Given the description of an element on the screen output the (x, y) to click on. 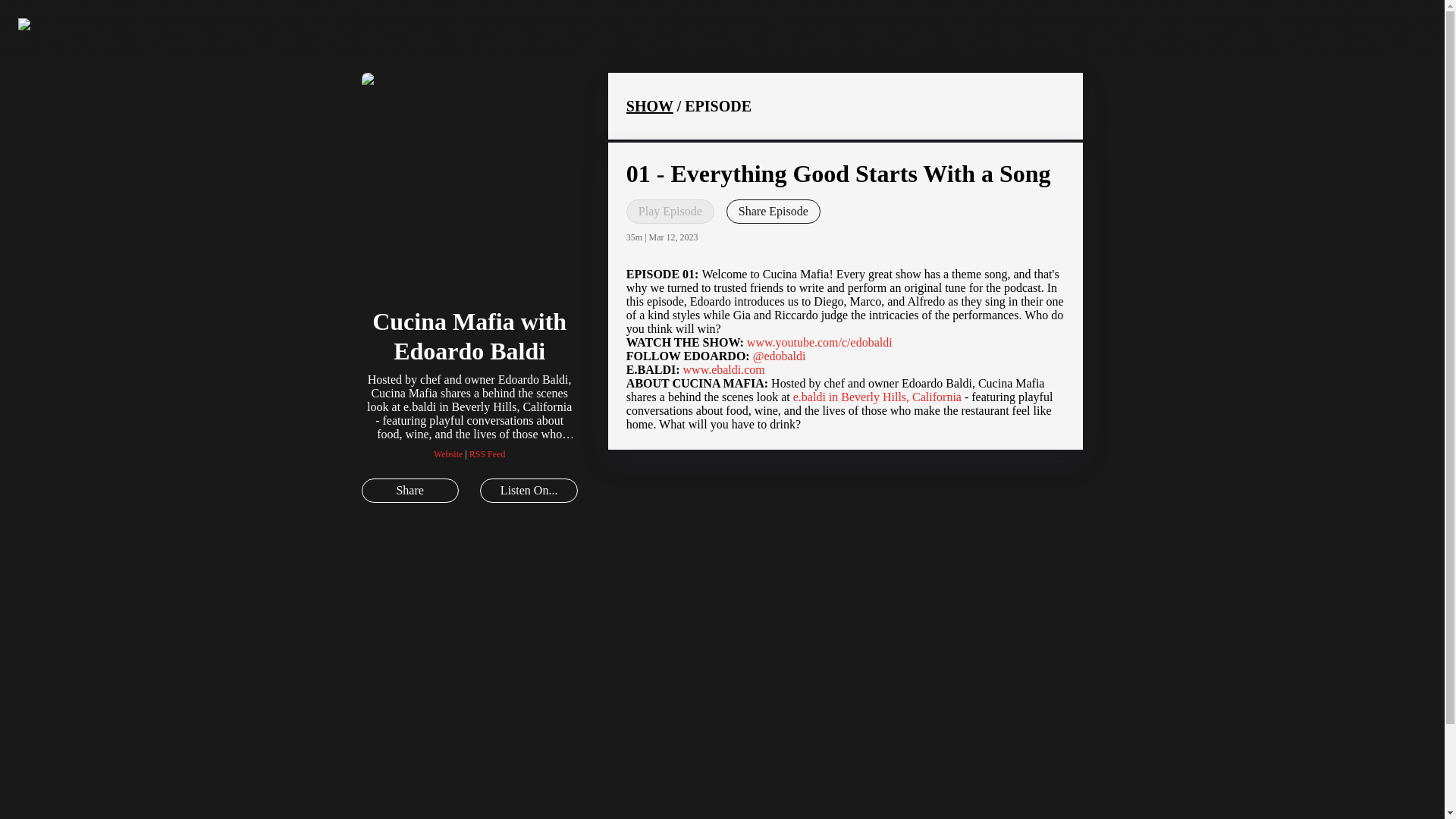
RSS Feed (486, 453)
e.baldi in Beverly Hills, California (876, 396)
Website (448, 453)
www.ebaldi.com (723, 369)
Share Episode (773, 211)
Listen On... (528, 490)
Share (409, 490)
SHOW (649, 105)
Play Episode (670, 211)
